Given the description of an element on the screen output the (x, y) to click on. 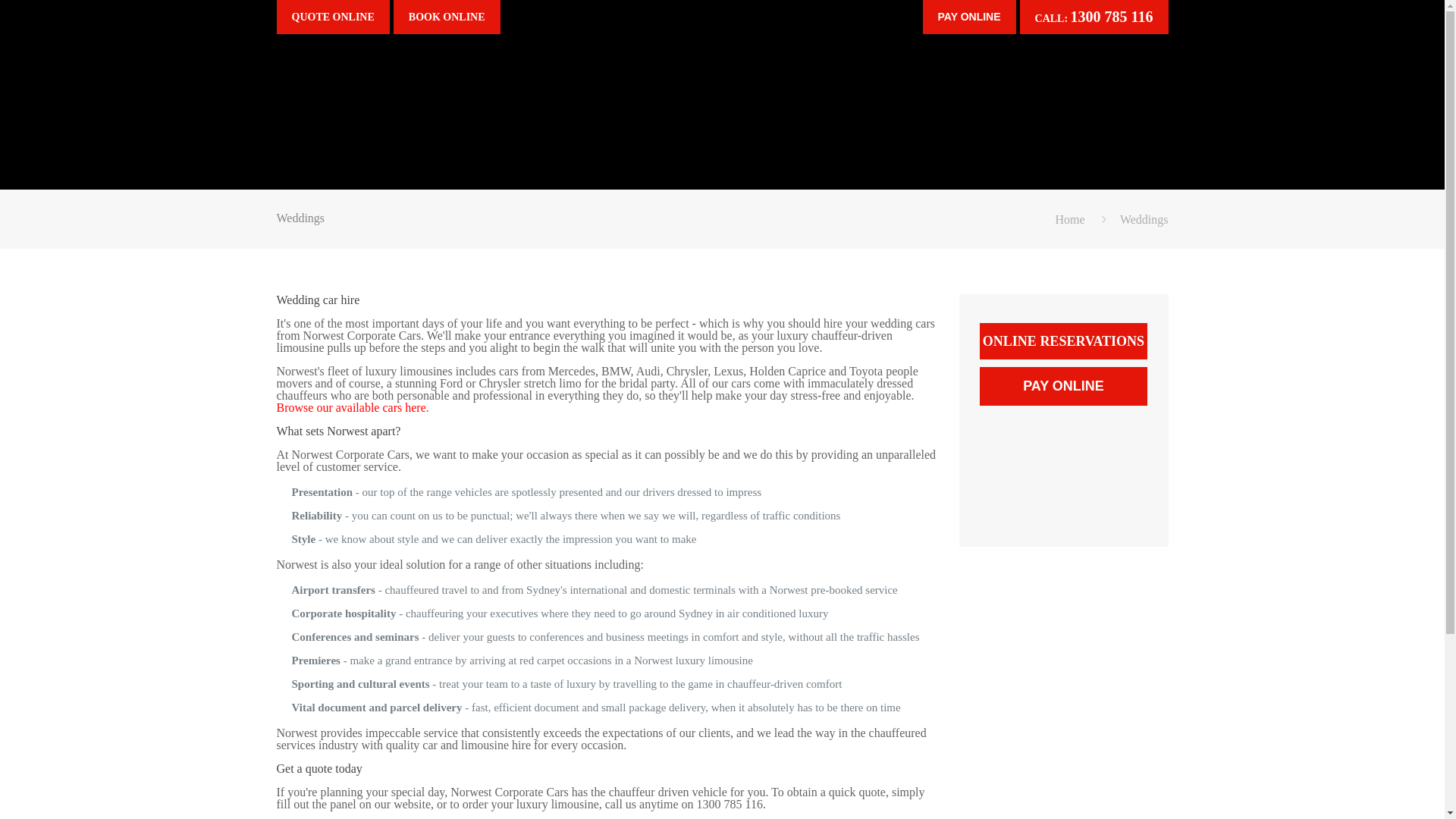
1300 785 116 Element type: text (1111, 16)
Weddings Element type: text (1144, 219)
Home Element type: text (1069, 219)
BOOK ONLINE Element type: text (446, 17)
Pay online Element type: text (1063, 386)
ONLINE RESERVATIONS Element type: text (1063, 341)
Browse our available cars here Element type: text (350, 407)
QUOTE ONLINE Element type: text (332, 17)
Pay online Element type: text (969, 17)
